Given the description of an element on the screen output the (x, y) to click on. 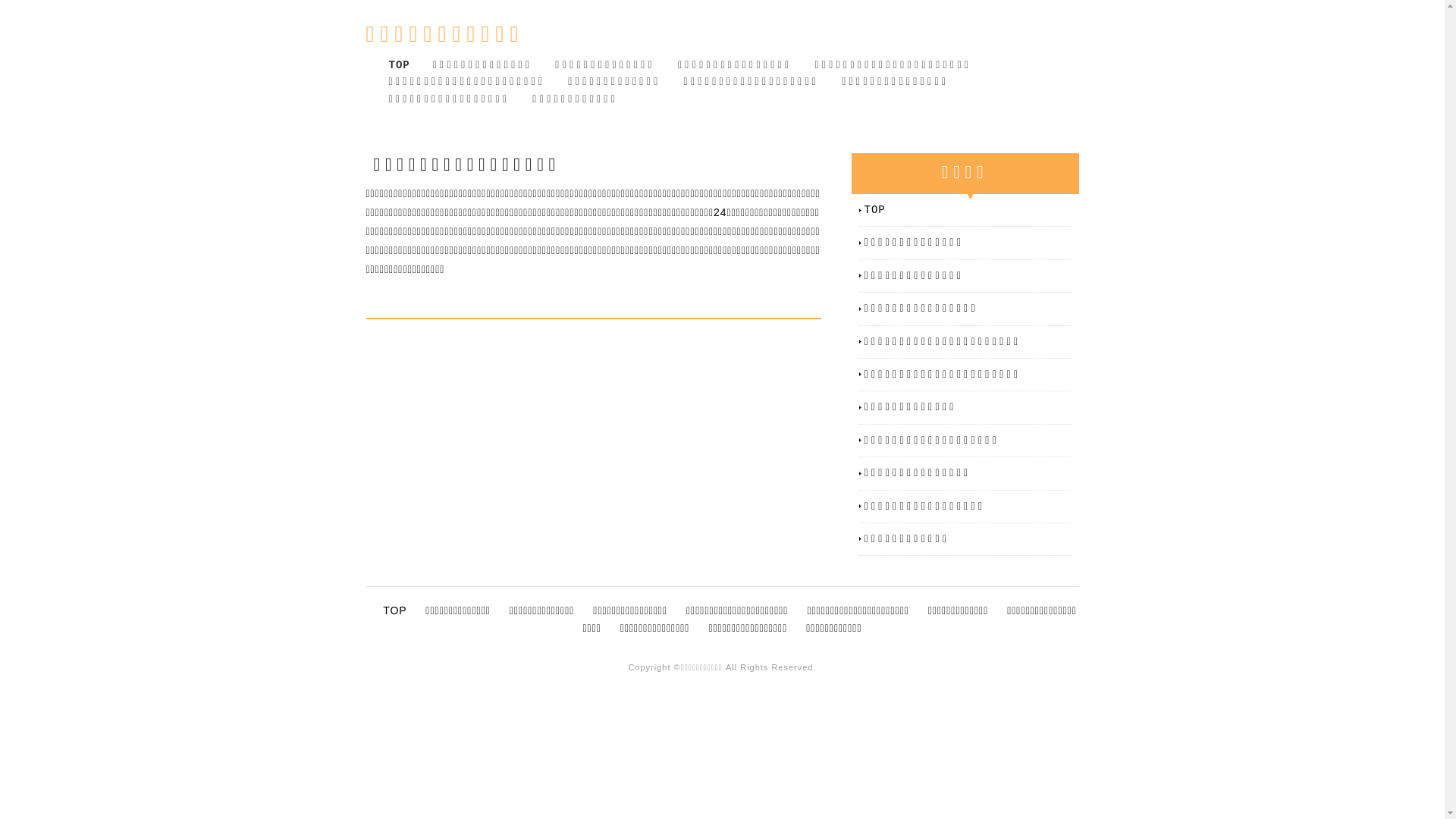
TOP Element type: text (398, 64)
TOP Element type: text (967, 209)
TOP Element type: text (394, 610)
